Given the description of an element on the screen output the (x, y) to click on. 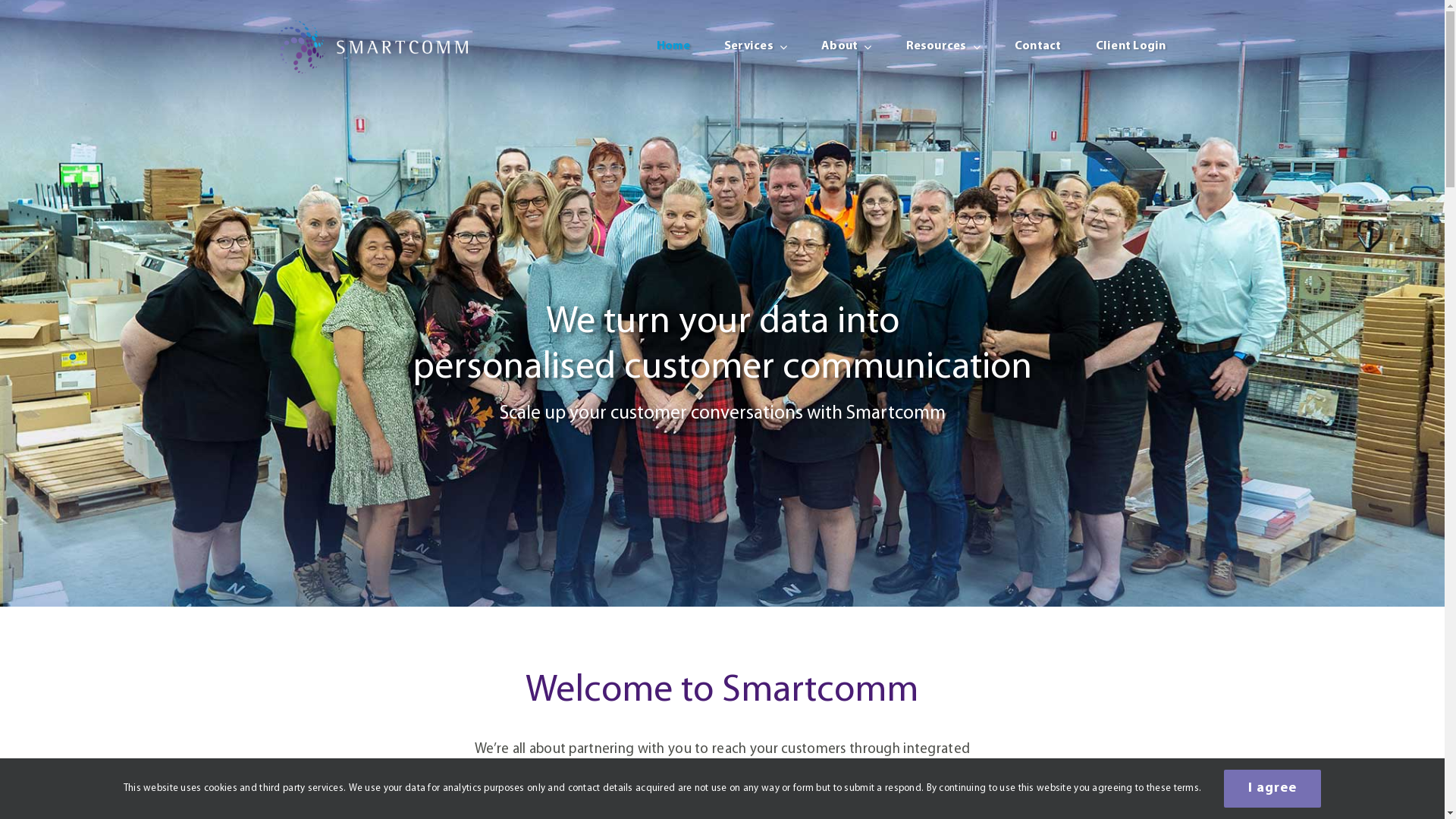
About Element type: text (846, 46)
I agree Element type: text (1272, 788)
Client Login Element type: text (1130, 46)
Home Element type: text (673, 46)
Services Element type: text (755, 46)
Resources Element type: text (943, 46)
Contact Element type: text (1037, 46)
